Given the description of an element on the screen output the (x, y) to click on. 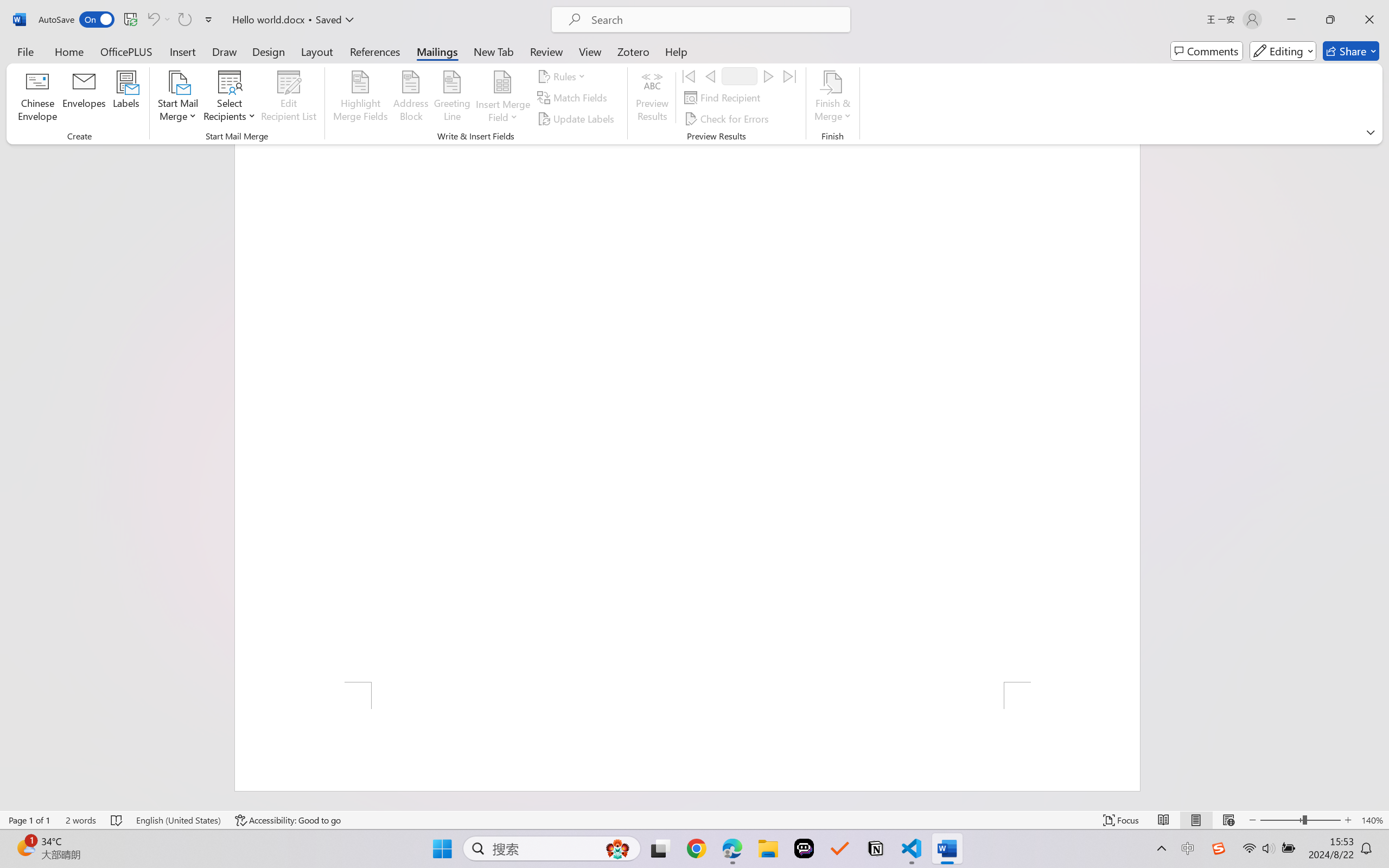
Accessibility Checker Accessibility: Good to go (288, 819)
Help (675, 51)
New Tab (493, 51)
Poe (804, 848)
Focus  (1121, 819)
Close (1369, 19)
Page Number Page 1 of 1 (29, 819)
Insert (182, 51)
Class: Image (1218, 847)
